Given the description of an element on the screen output the (x, y) to click on. 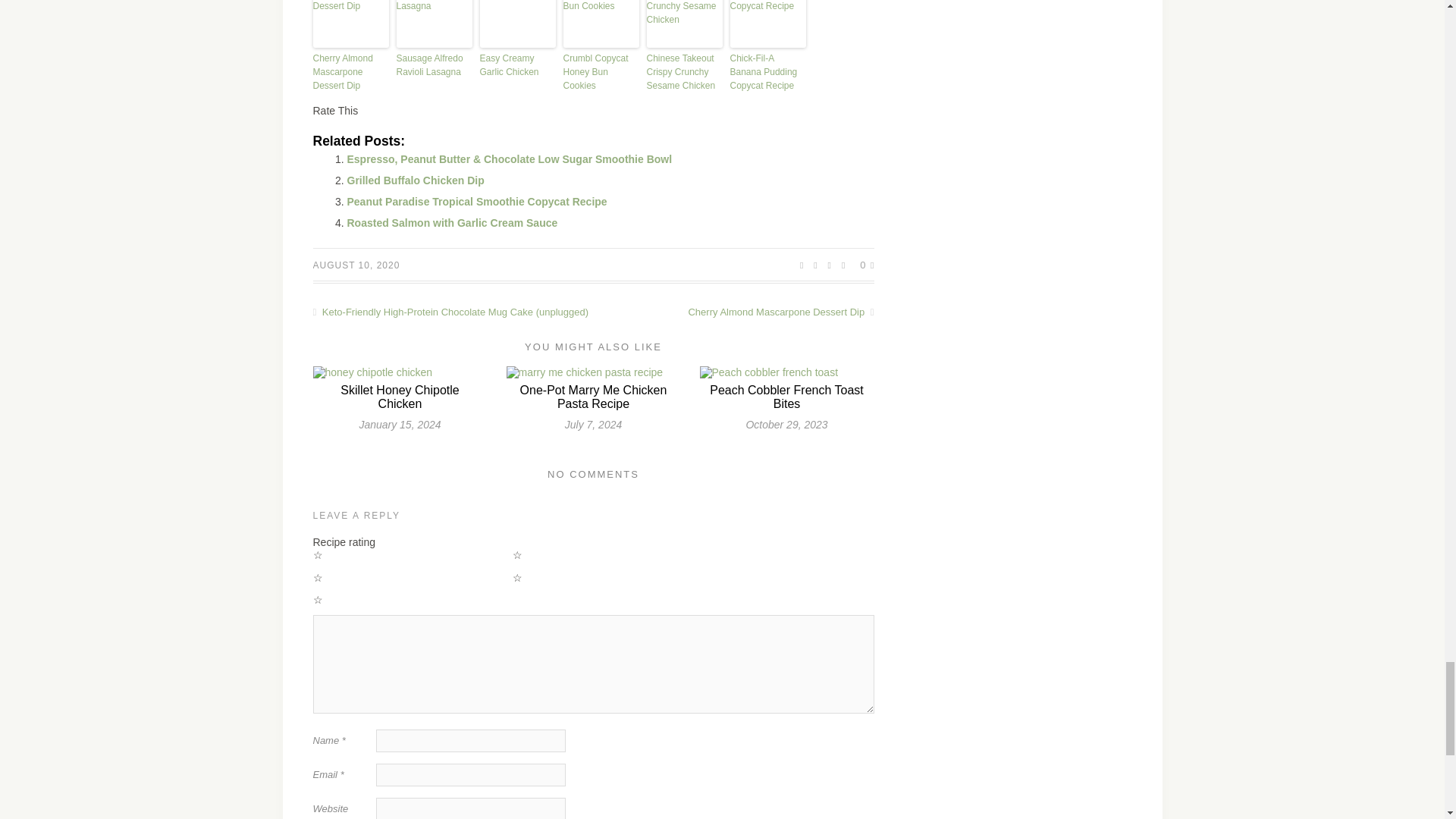
Grilled Buffalo Chicken Dip (415, 180)
Peanut Paradise Tropical Smoothie Copycat Recipe (477, 201)
Roasted Salmon with Garlic Cream Sauce (452, 223)
